Given the description of an element on the screen output the (x, y) to click on. 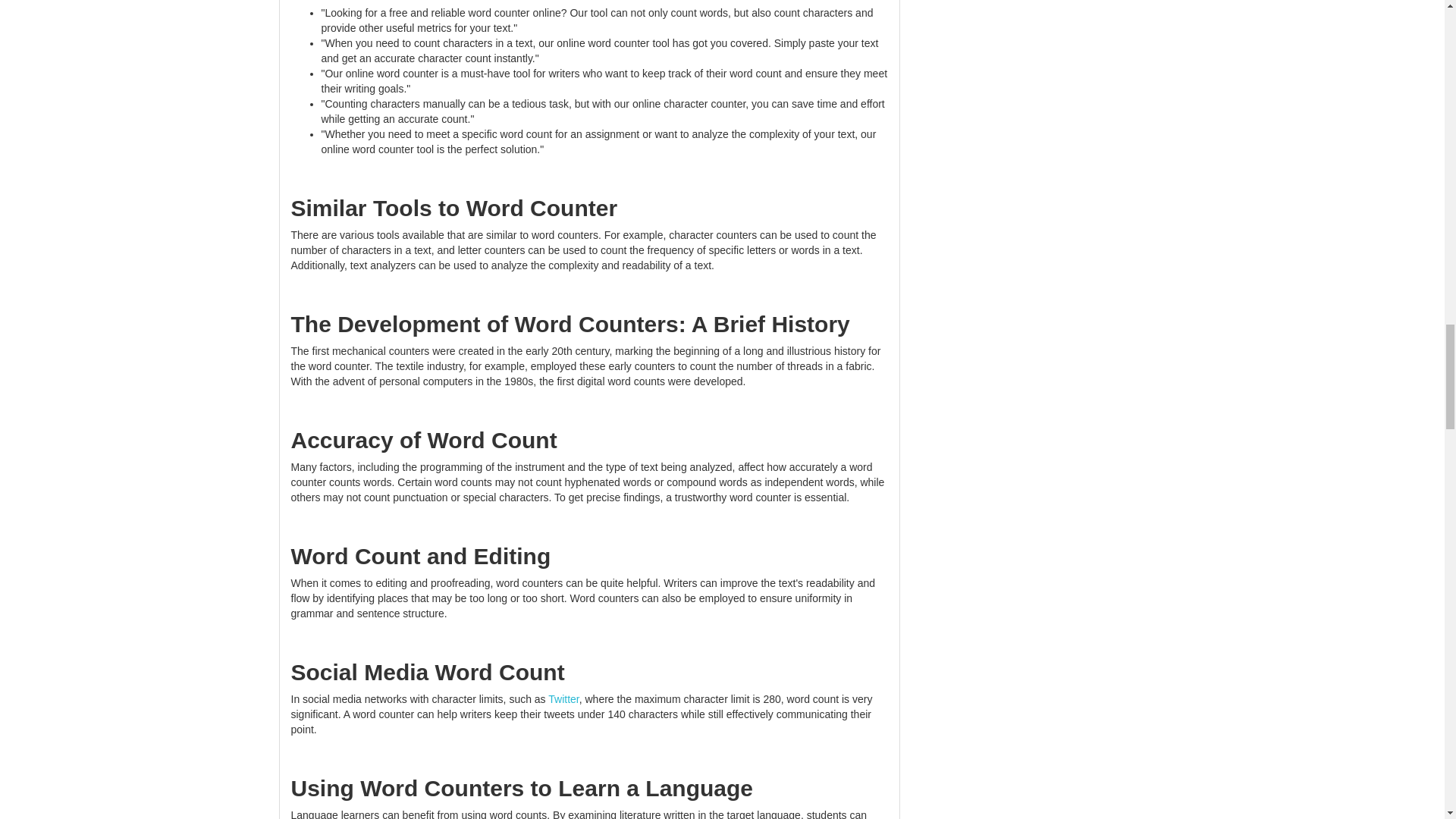
Twitter (563, 698)
